Given the description of an element on the screen output the (x, y) to click on. 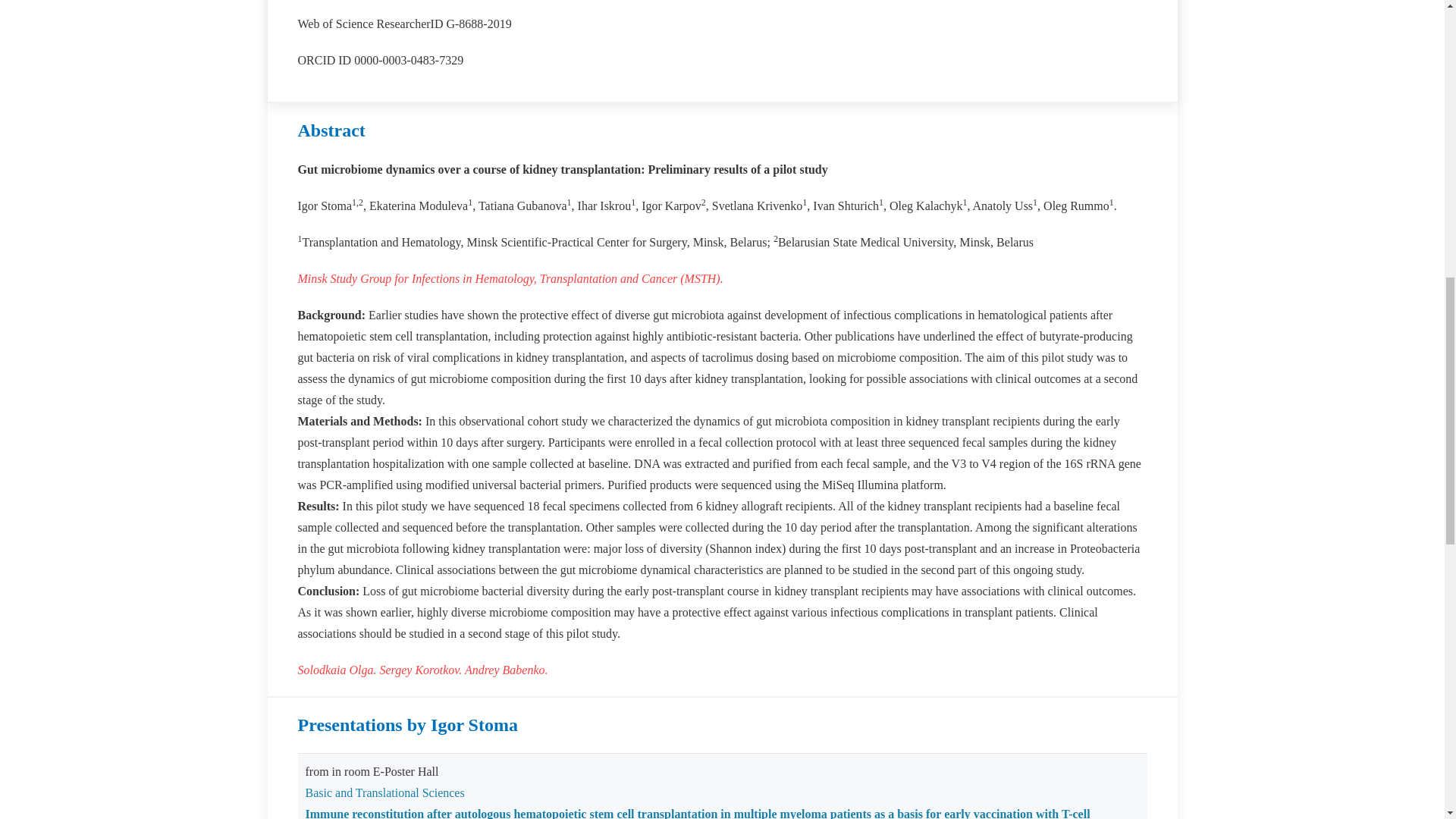
Basic and Translational Sciences (384, 792)
